Given the description of an element on the screen output the (x, y) to click on. 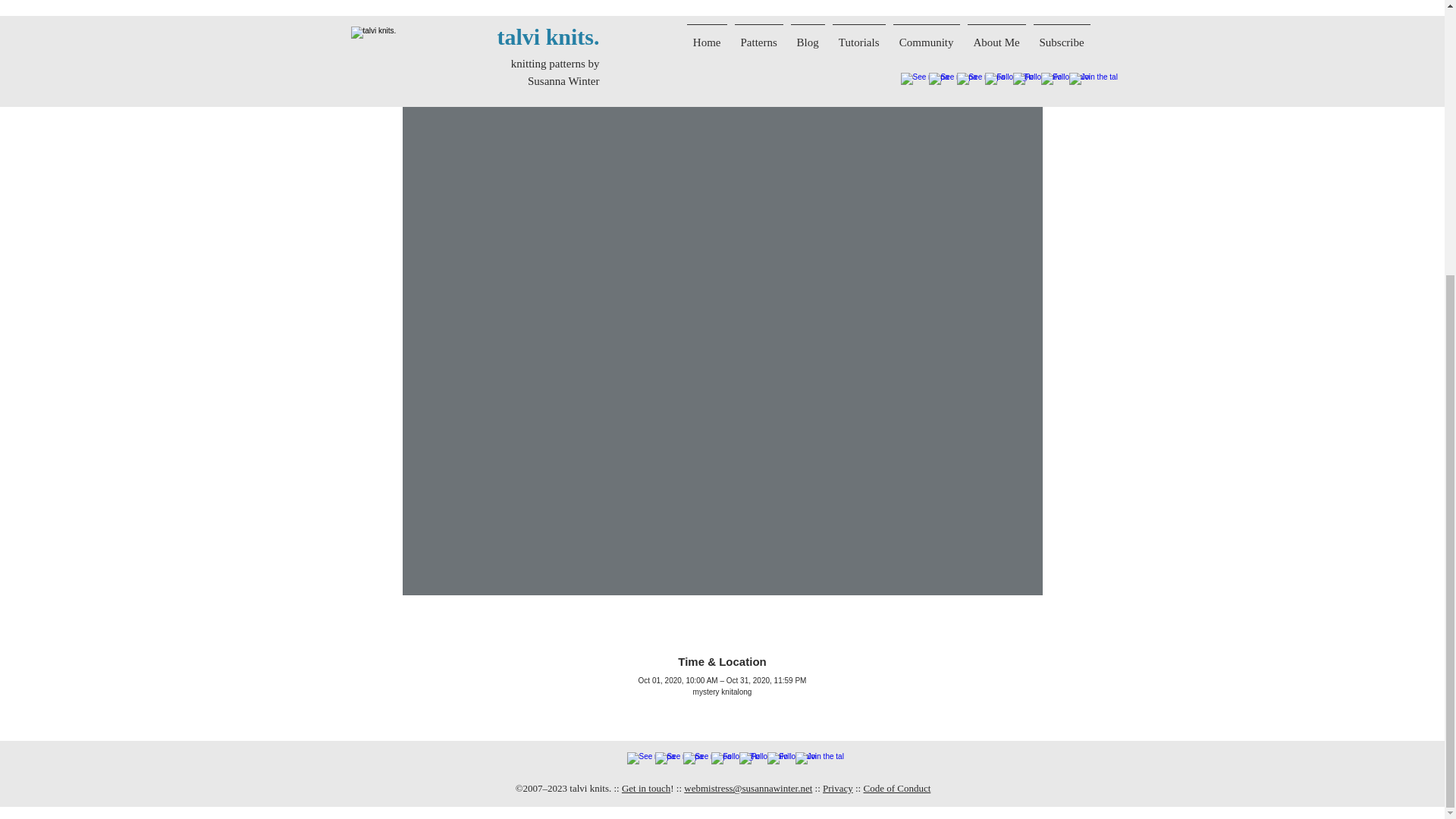
Get in touch (645, 787)
Privacy (837, 787)
Code of Conduct (896, 787)
